Given the description of an element on the screen output the (x, y) to click on. 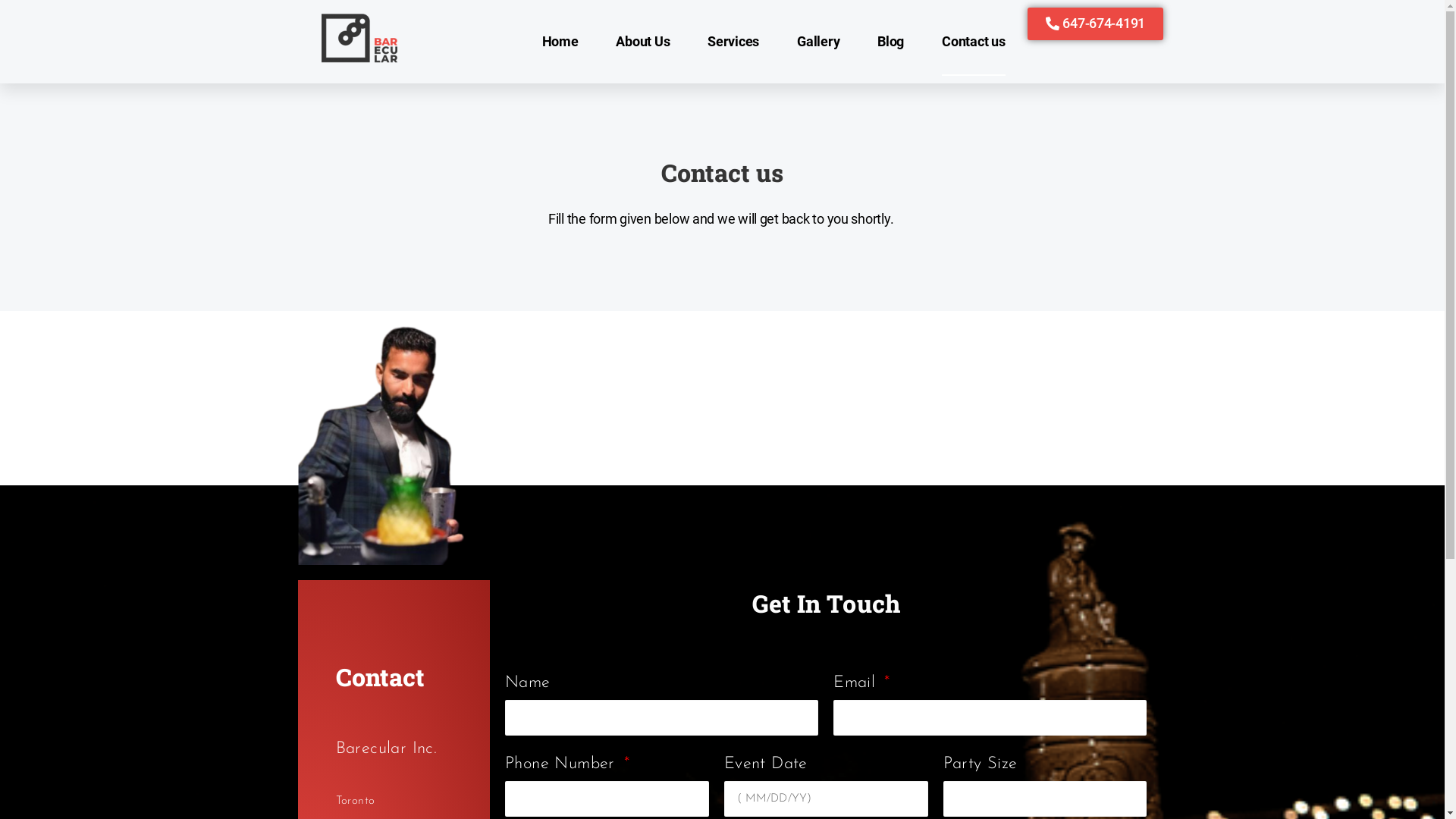
647-674-4191 Element type: text (1095, 23)
Services Element type: text (733, 41)
logo-copy1-1-oepx9cmzib1bg0479y8ppr0bih1kuzrdtcl2rwcrvk Element type: hover (359, 37)
About Us Element type: text (642, 41)
Gallery Element type: text (818, 41)
Home Element type: text (560, 41)
Blog Element type: text (890, 41)
Contact us Element type: text (972, 41)
